Given the description of an element on the screen output the (x, y) to click on. 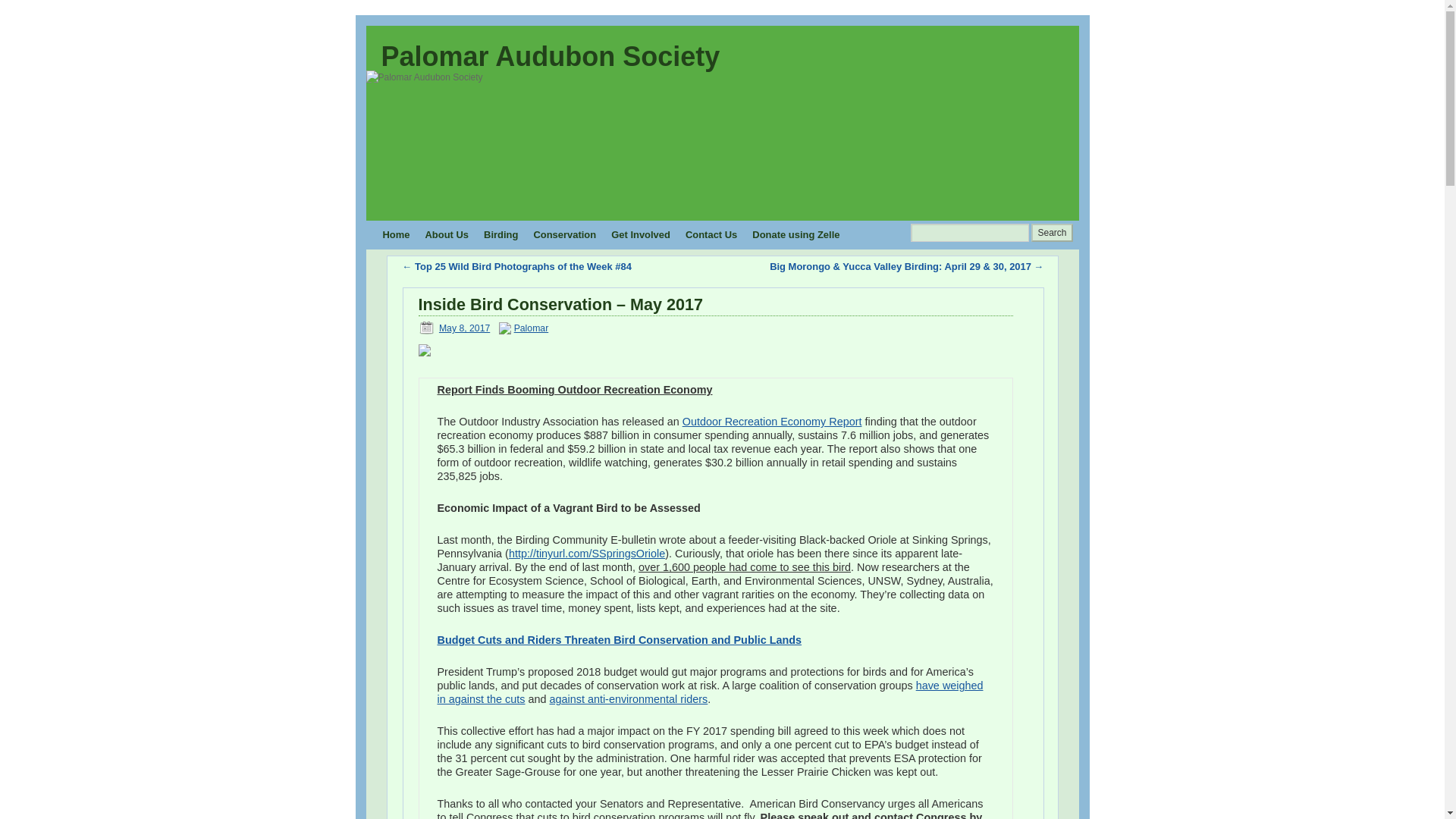
Search (1050, 232)
Outdoor Recreation Economy Report (771, 421)
against anti-environmental riders (628, 698)
Palomar Audubon Society (549, 56)
View all posts by Palomar (530, 327)
Palomar Audubon Society (549, 56)
Donate using Zelle (795, 234)
Home (395, 234)
Birding (500, 234)
